Given the description of an element on the screen output the (x, y) to click on. 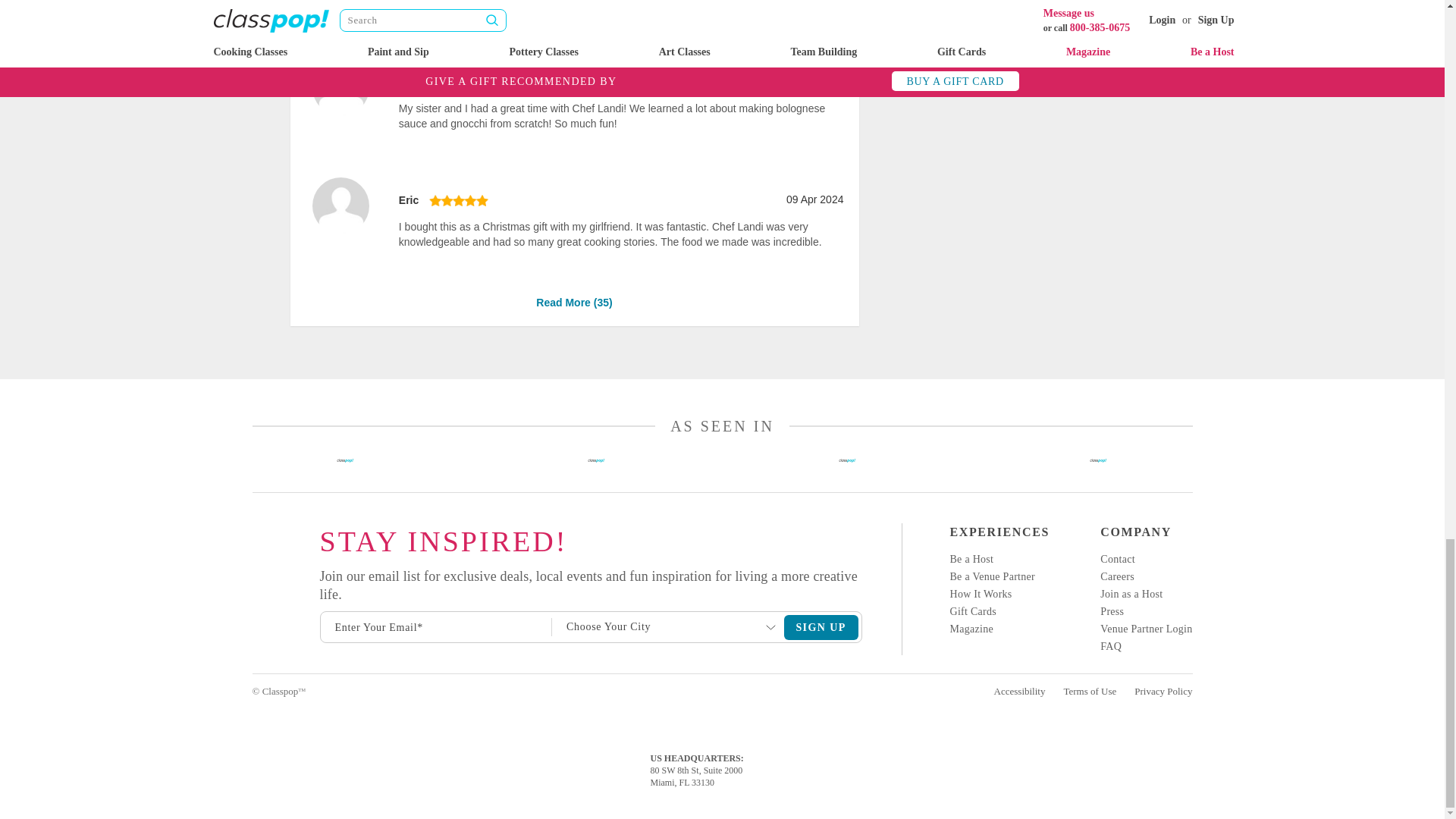
Twitter (253, 615)
Facebook (253, 563)
Instagram (253, 537)
Yelp (253, 588)
Pinterest (253, 640)
